Given the description of an element on the screen output the (x, y) to click on. 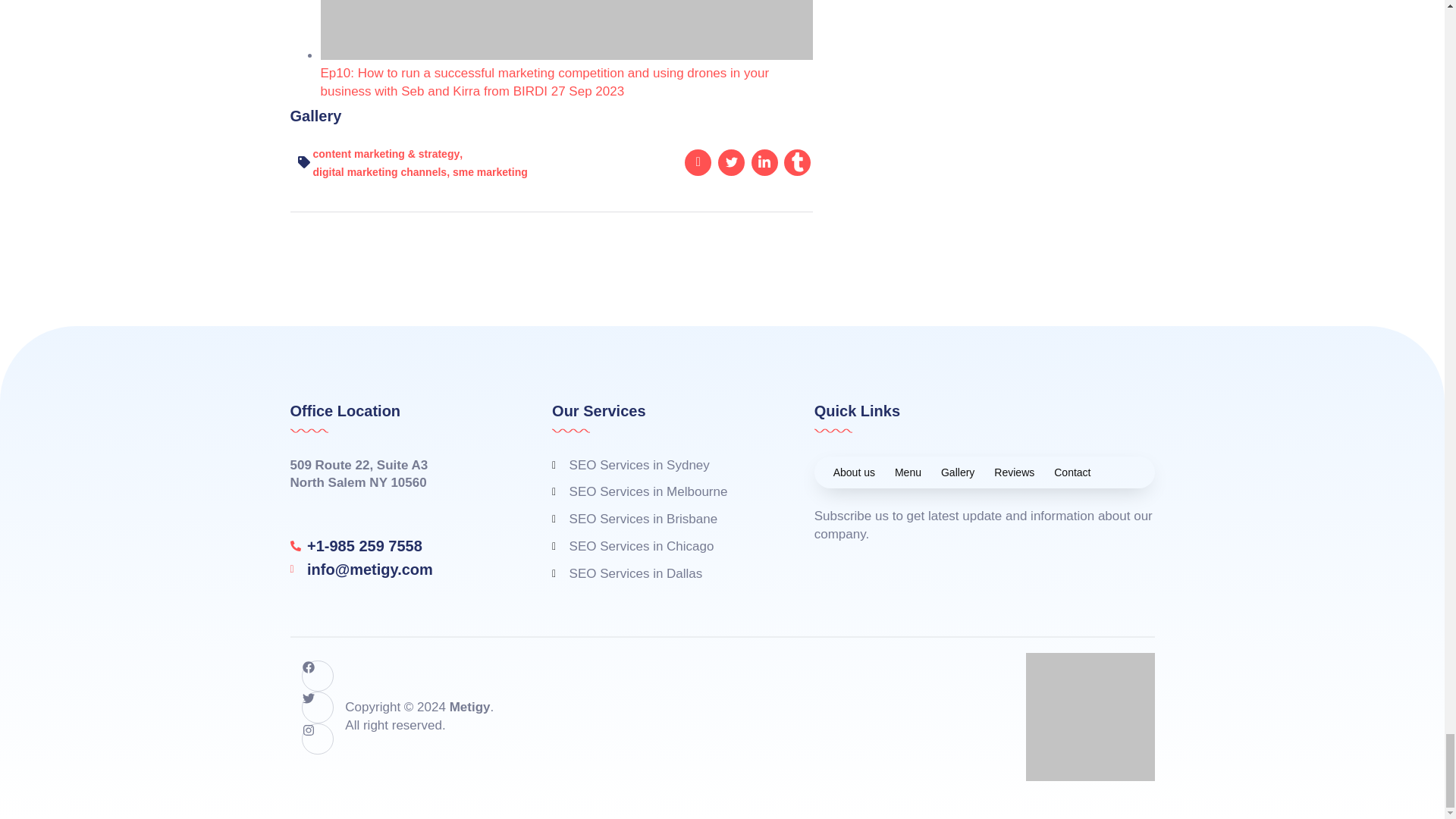
SEO Services in Dallas (659, 574)
SEO Services in Chicago (659, 546)
SEO Services in Sydney (659, 465)
SEO Services in Brisbane (659, 519)
SEO Services in Melbourne (659, 492)
